Given the description of an element on the screen output the (x, y) to click on. 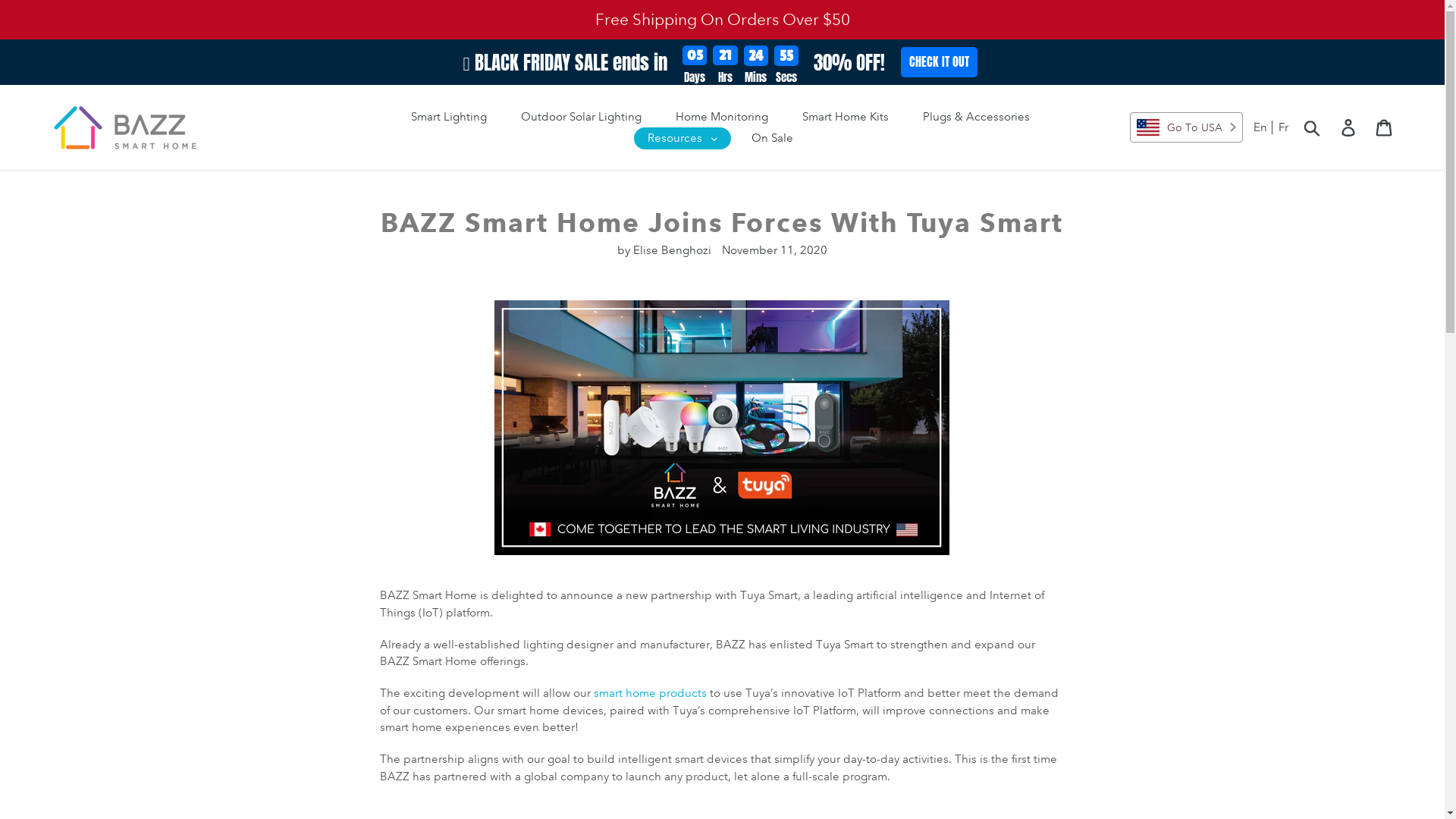
En Element type: text (1262, 127)
Fr Element type: text (1283, 127)
On Sale Element type: text (771, 138)
Log in Element type: text (1349, 127)
Home Monitoring Element type: text (721, 117)
Submit Element type: text (1312, 127)
Smart Home Kits Element type: text (845, 117)
Plugs & Accessories Element type: text (976, 117)
Smart Lighting Element type: text (448, 117)
Outdoor Solar Lighting Element type: text (581, 117)
CHECK IT OUT Element type: text (938, 62)
smart home products Element type: text (649, 693)
Go To USA Element type: text (1185, 127)
Cart Element type: text (1384, 127)
